Given the description of an element on the screen output the (x, y) to click on. 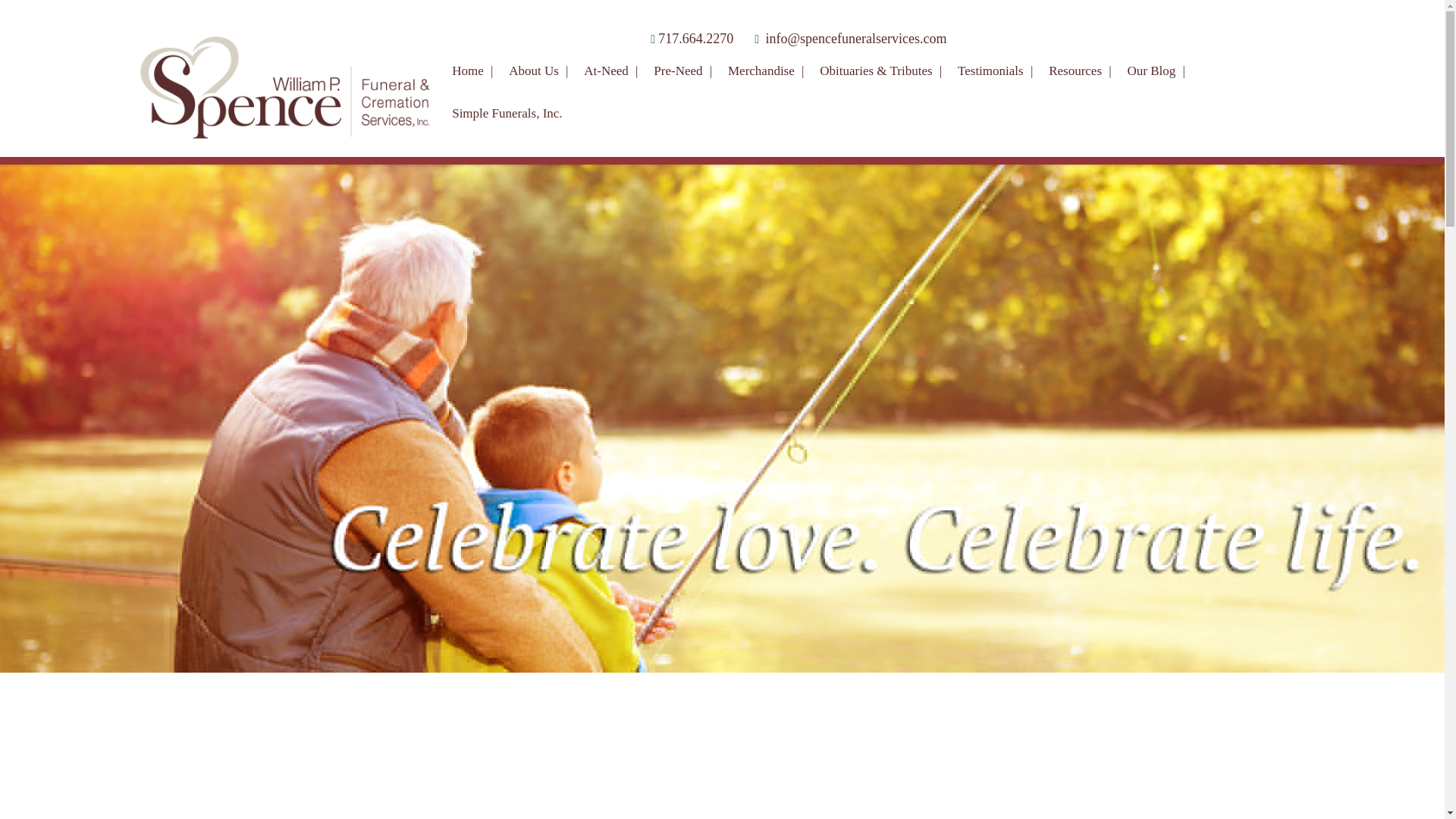
Testimonials (997, 65)
717.664.2270 (695, 38)
About Us (539, 65)
Merchandise (767, 65)
Home (474, 65)
Resources (1081, 65)
Pre-Need (684, 65)
At-Need (613, 65)
